Given the description of an element on the screen output the (x, y) to click on. 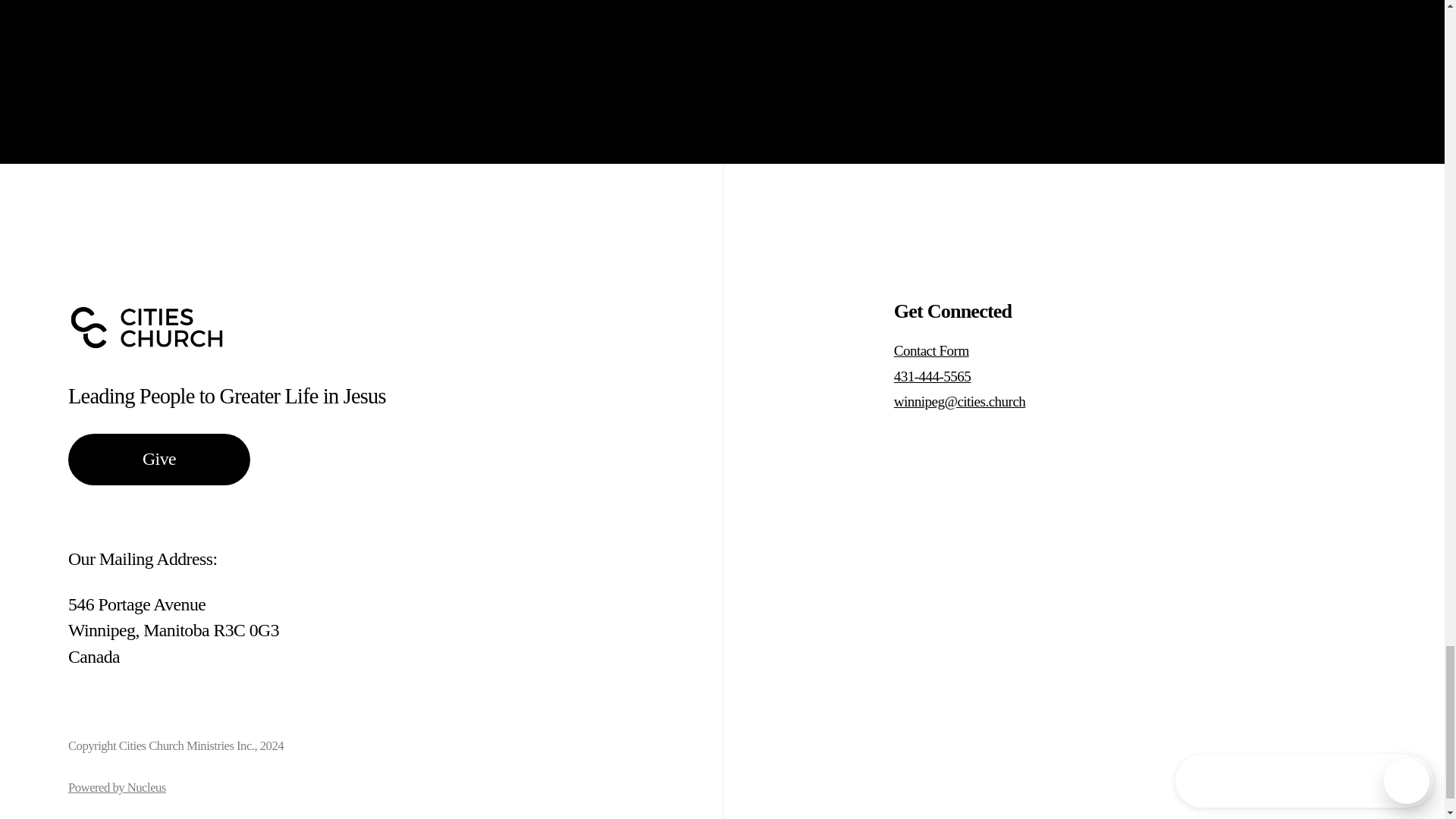
Give (159, 459)
Get Connected (952, 311)
431-444-5565 (977, 375)
Powered by Nucleus (116, 787)
Contact Form (977, 350)
